Given the description of an element on the screen output the (x, y) to click on. 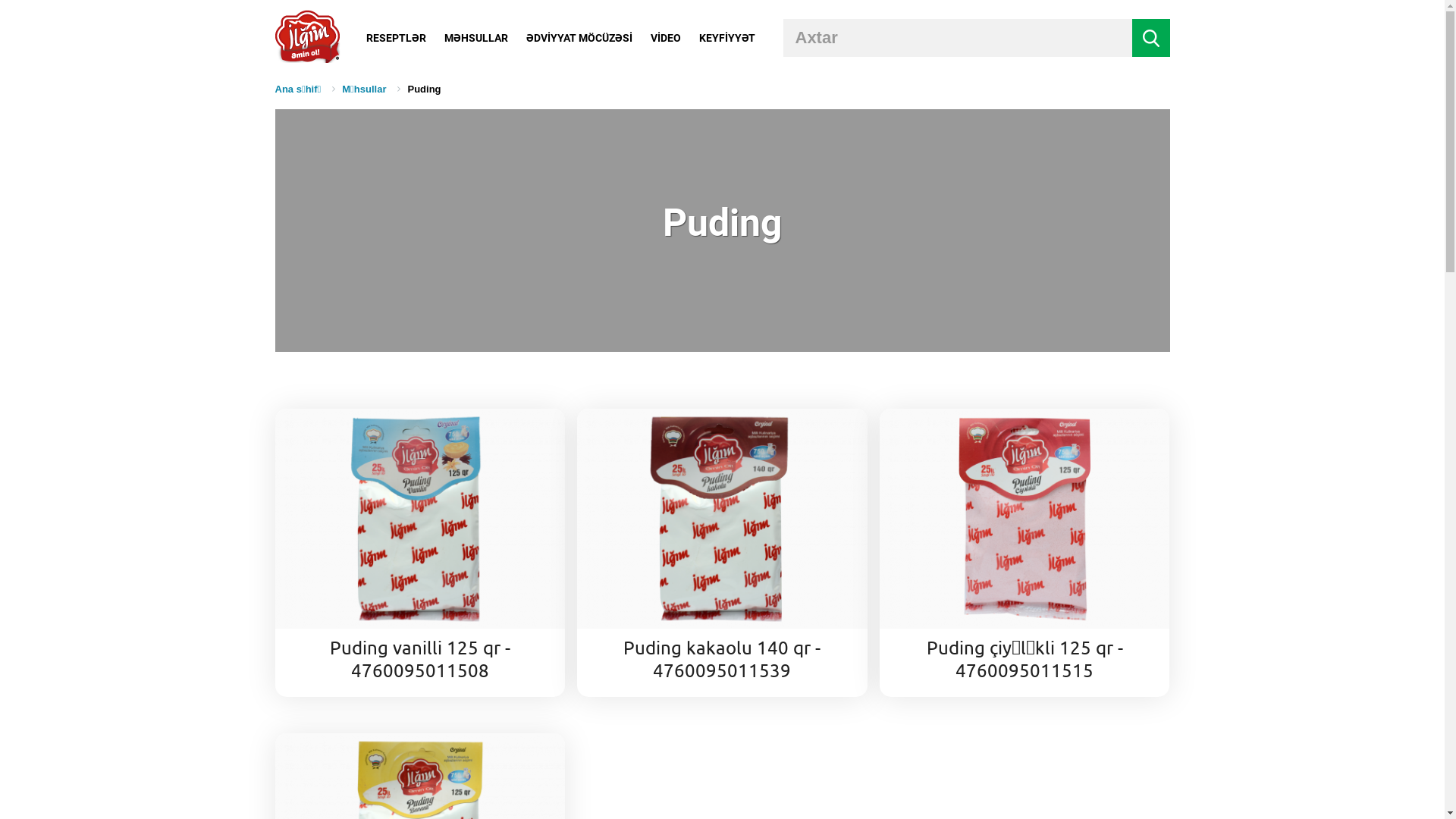
VIDEO Element type: text (665, 37)
Puding kakaolu 140 qr - 4760095011539 Element type: text (722, 552)
Puding vanilli 125 qr - 4760095011508 Element type: text (419, 552)
